Given the description of an element on the screen output the (x, y) to click on. 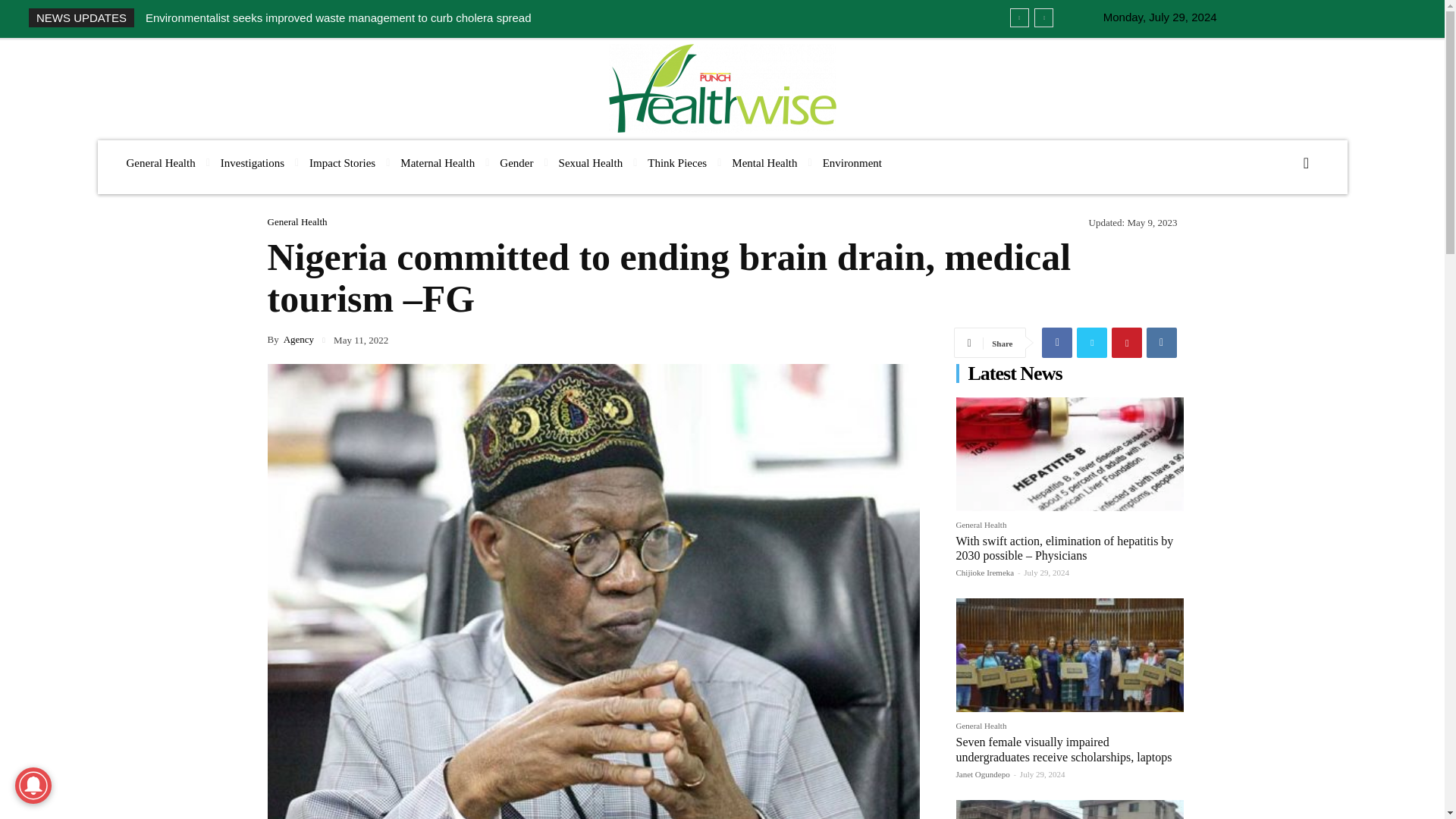
General Health (160, 163)
Investigations (252, 163)
